Given the description of an element on the screen output the (x, y) to click on. 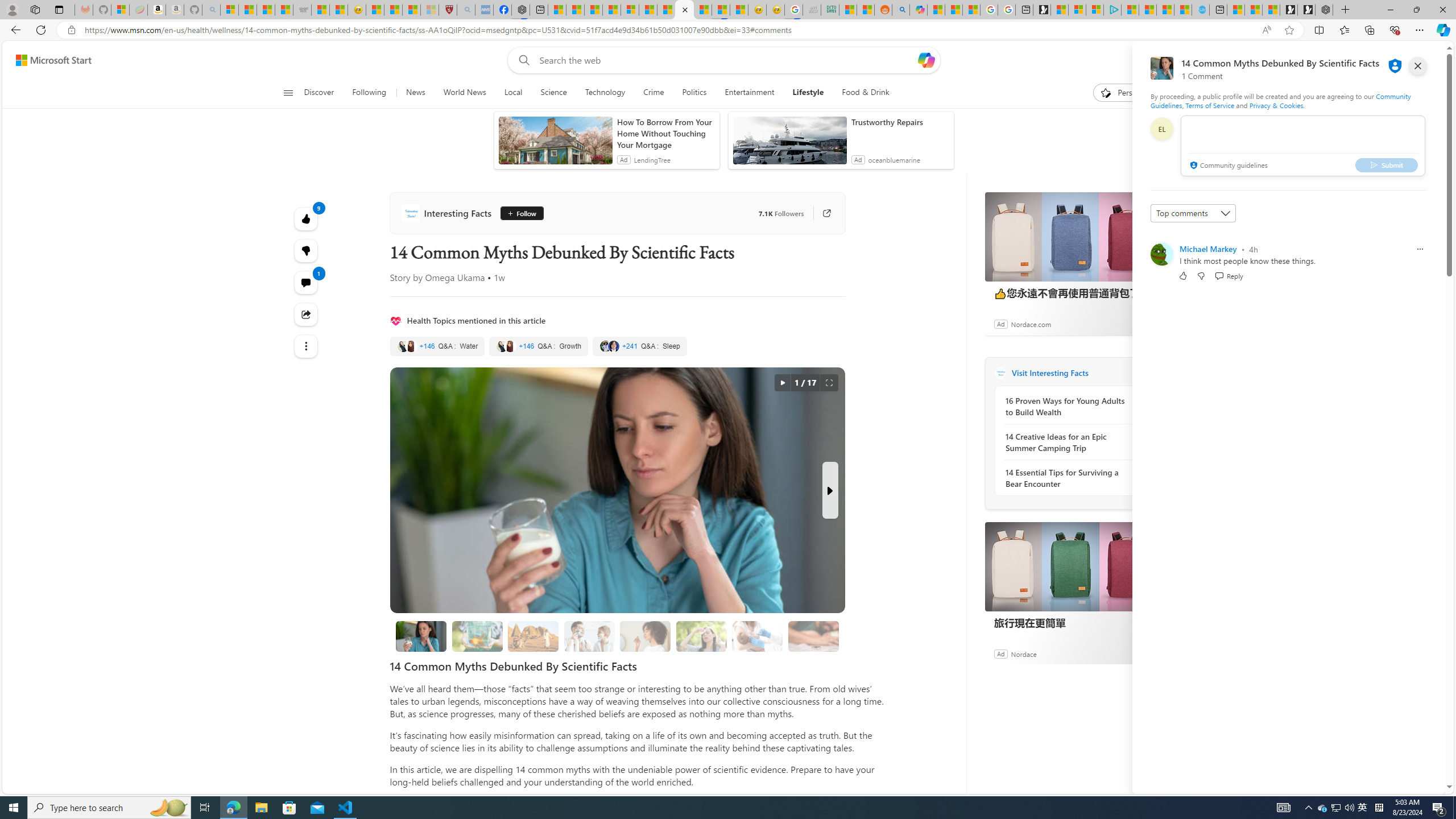
Growth (538, 346)
Entertainment (749, 92)
Web search (520, 60)
14 Essential Tips for Surviving a Bear Encounter (1066, 477)
Crime (653, 92)
Microsoft Copilot in Bing (917, 9)
14 Creative Ideas for an Epic Summer Camping Trip (1066, 441)
